Given the description of an element on the screen output the (x, y) to click on. 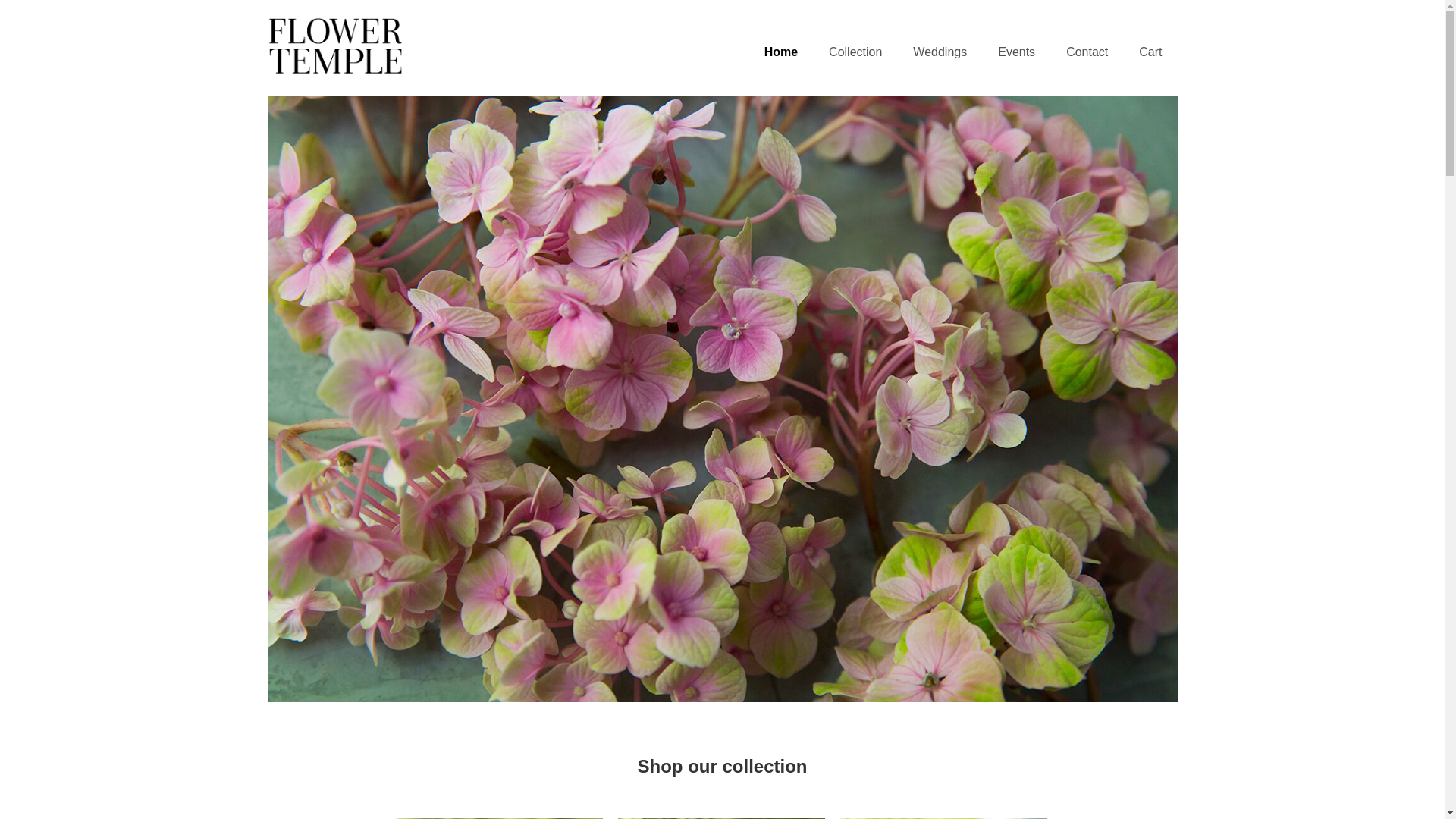
Home Element type: text (780, 53)
Shop our collection Element type: text (722, 766)
Contact Element type: text (1087, 53)
Collection Element type: text (855, 53)
Weddings Element type: text (939, 53)
Cart Element type: text (1149, 53)
Events Element type: text (1016, 53)
